Given the description of an element on the screen output the (x, y) to click on. 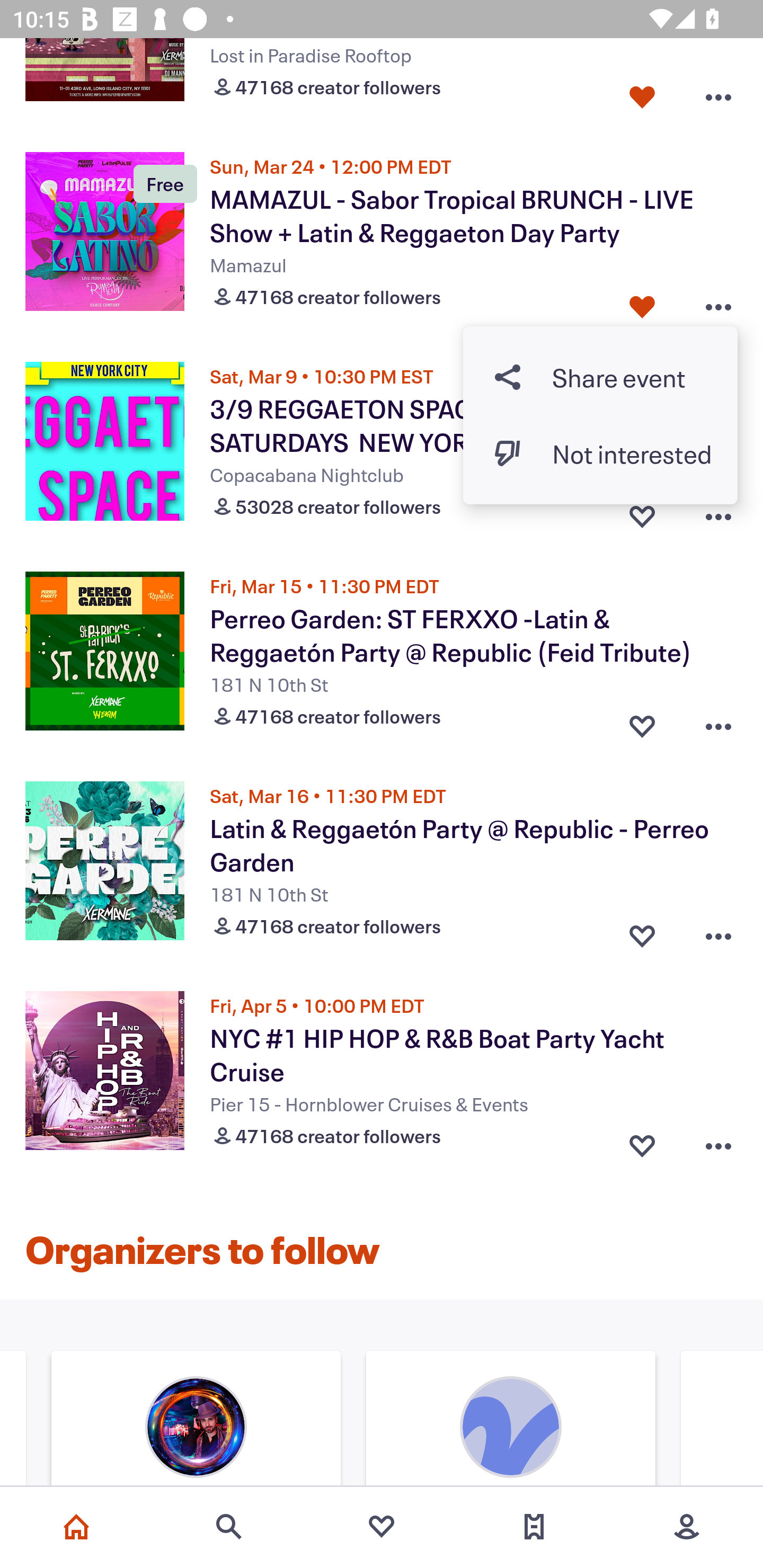
Share button Share event (600, 376)
Dislike event button Not interested (600, 453)
